Given the description of an element on the screen output the (x, y) to click on. 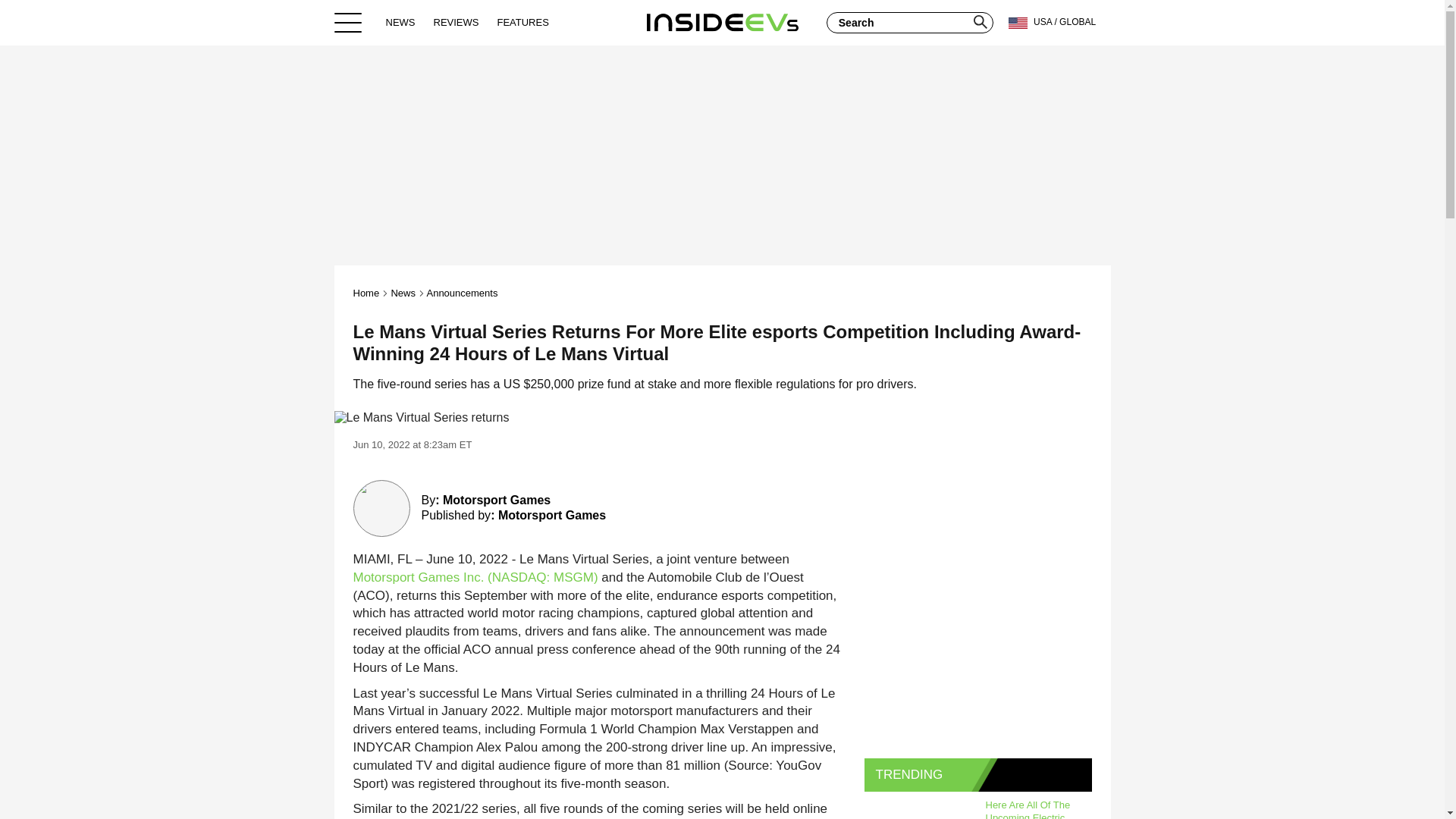
Motorsport Games (551, 514)
Announcements (461, 292)
REVIEWS (456, 22)
FEATURES (522, 22)
News (402, 292)
Home (721, 22)
NEWS (399, 22)
Home (366, 293)
